Given the description of an element on the screen output the (x, y) to click on. 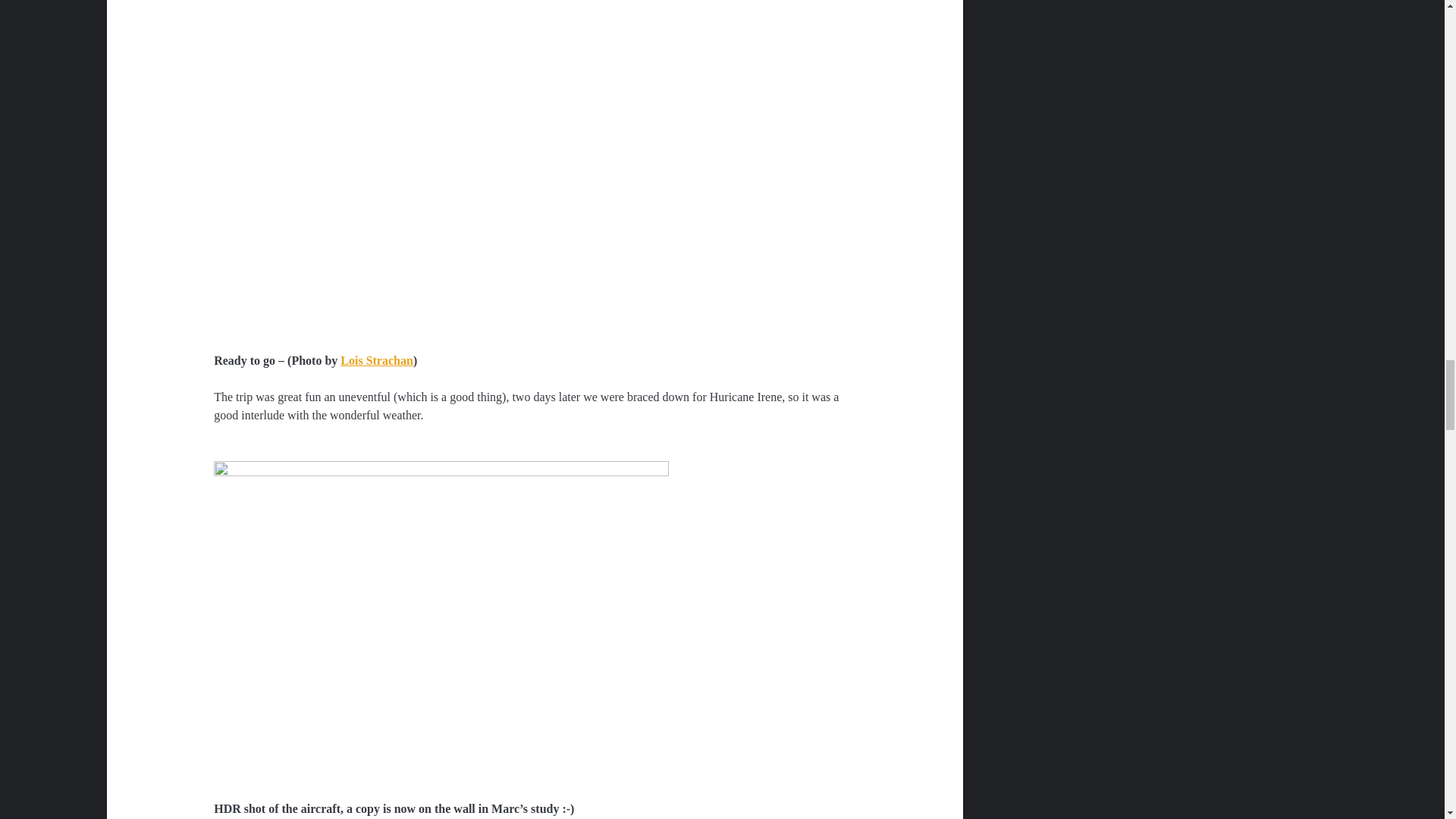
Lois Strachan (376, 359)
